Given the description of an element on the screen output the (x, y) to click on. 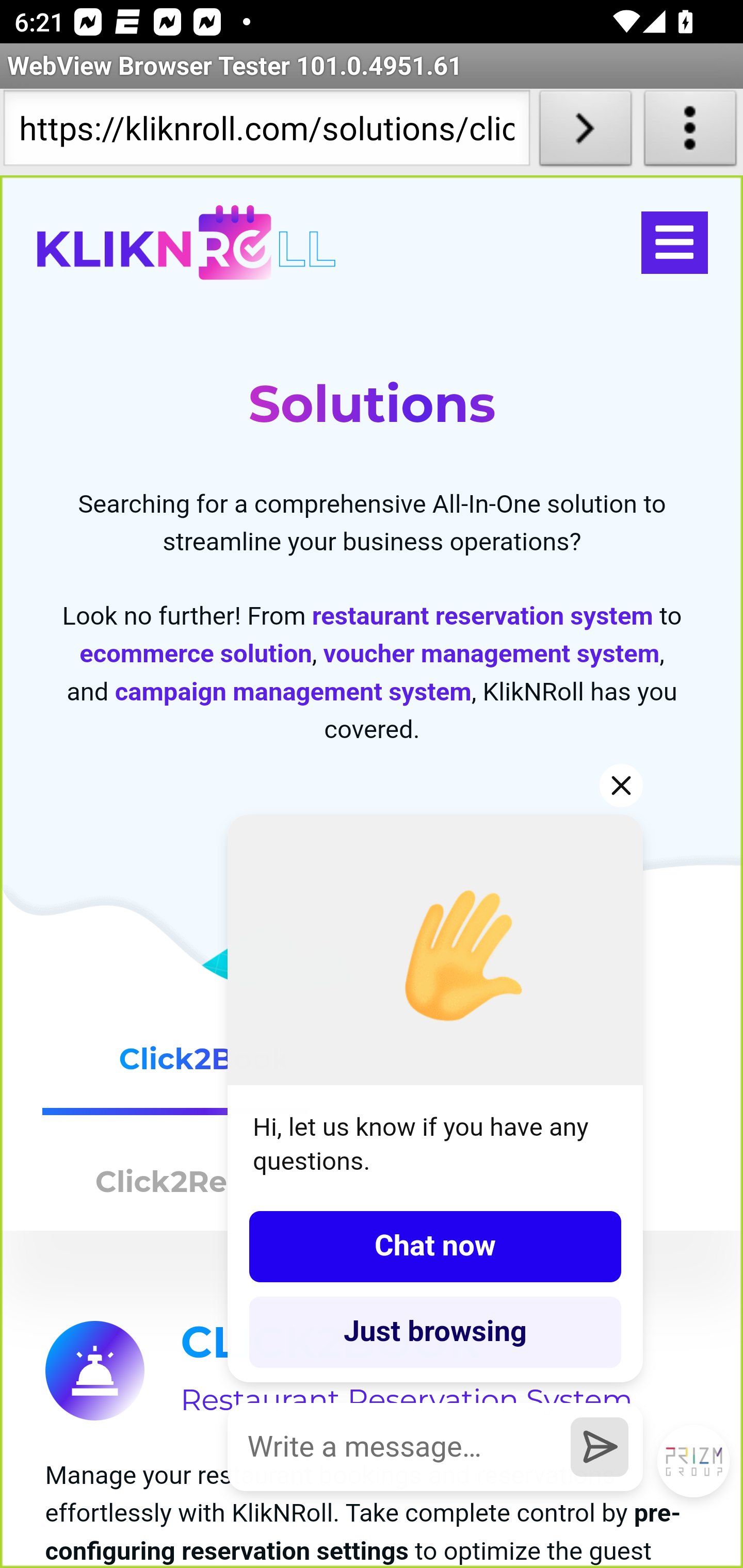
Load URL (585, 132)
About WebView (690, 132)
kliknroll (185, 242)
 (673, 242)
